Given the description of an element on the screen output the (x, y) to click on. 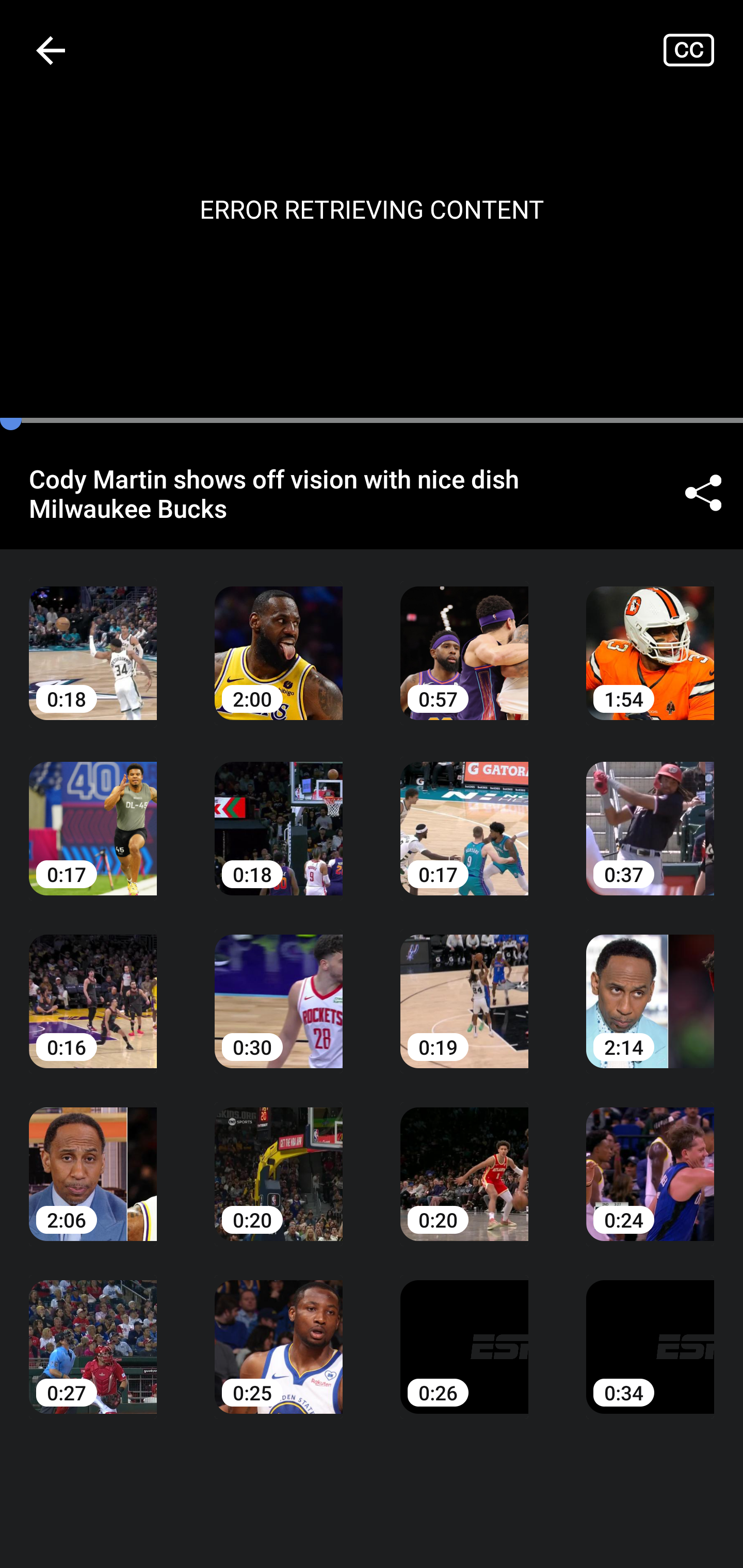
Navigate up (50, 50)
Closed captions  (703, 49)
Share © (703, 493)
0:18 (92, 637)
2:00 (278, 637)
0:57 (464, 637)
1:54 (650, 637)
0:17 (92, 813)
0:18 (278, 813)
0:17 (464, 813)
0:37 (650, 813)
0:16 (92, 987)
0:30 (278, 987)
0:19 (464, 987)
2:14 (650, 987)
2:06 (92, 1160)
0:20 (278, 1160)
0:20 (464, 1160)
0:24 (650, 1160)
0:27 (92, 1332)
0:25 (278, 1332)
0:26 (464, 1332)
0:34 (650, 1332)
